Given the description of an element on the screen output the (x, y) to click on. 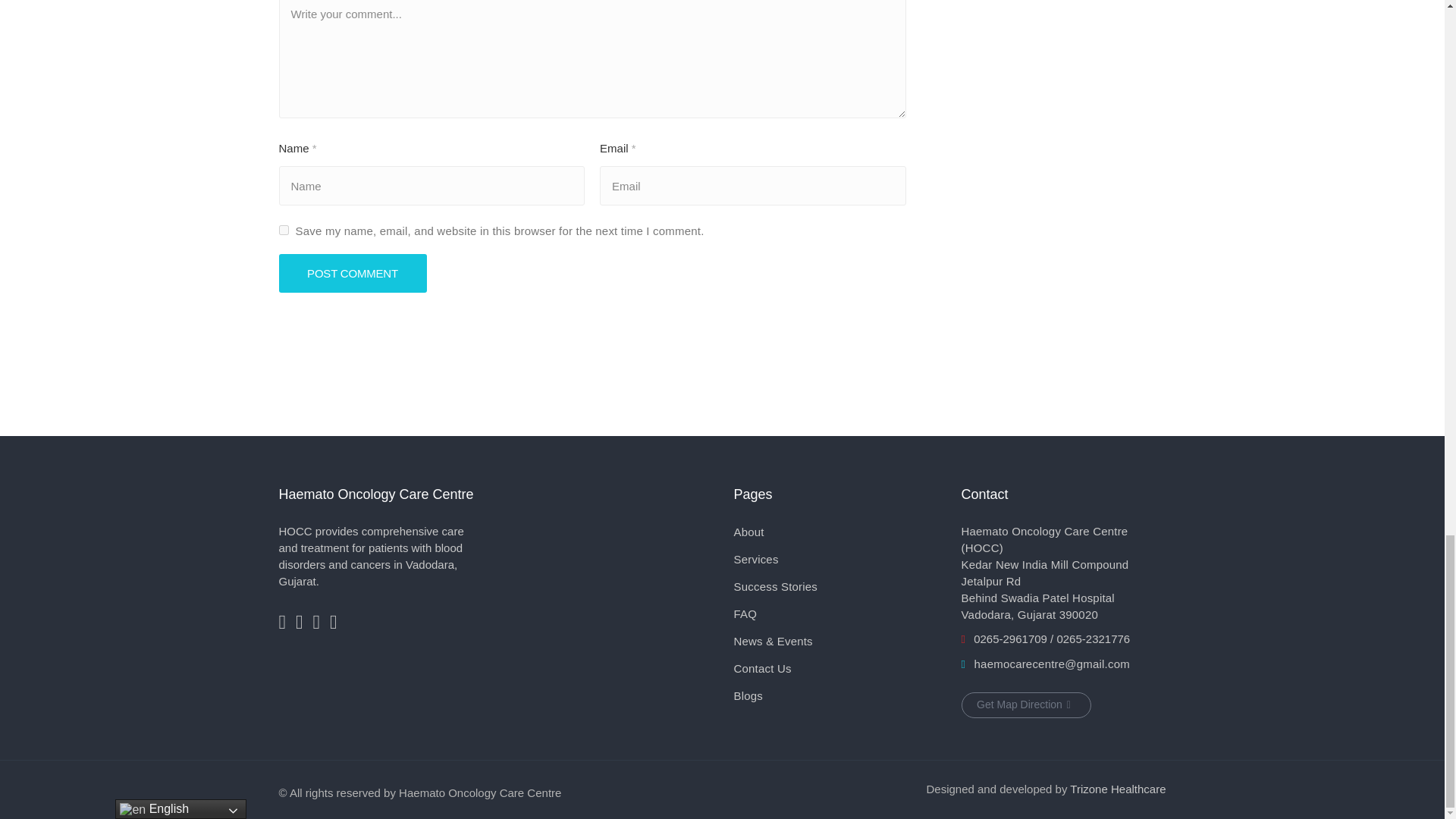
Post Comment (352, 272)
yes (283, 230)
